Given the description of an element on the screen output the (x, y) to click on. 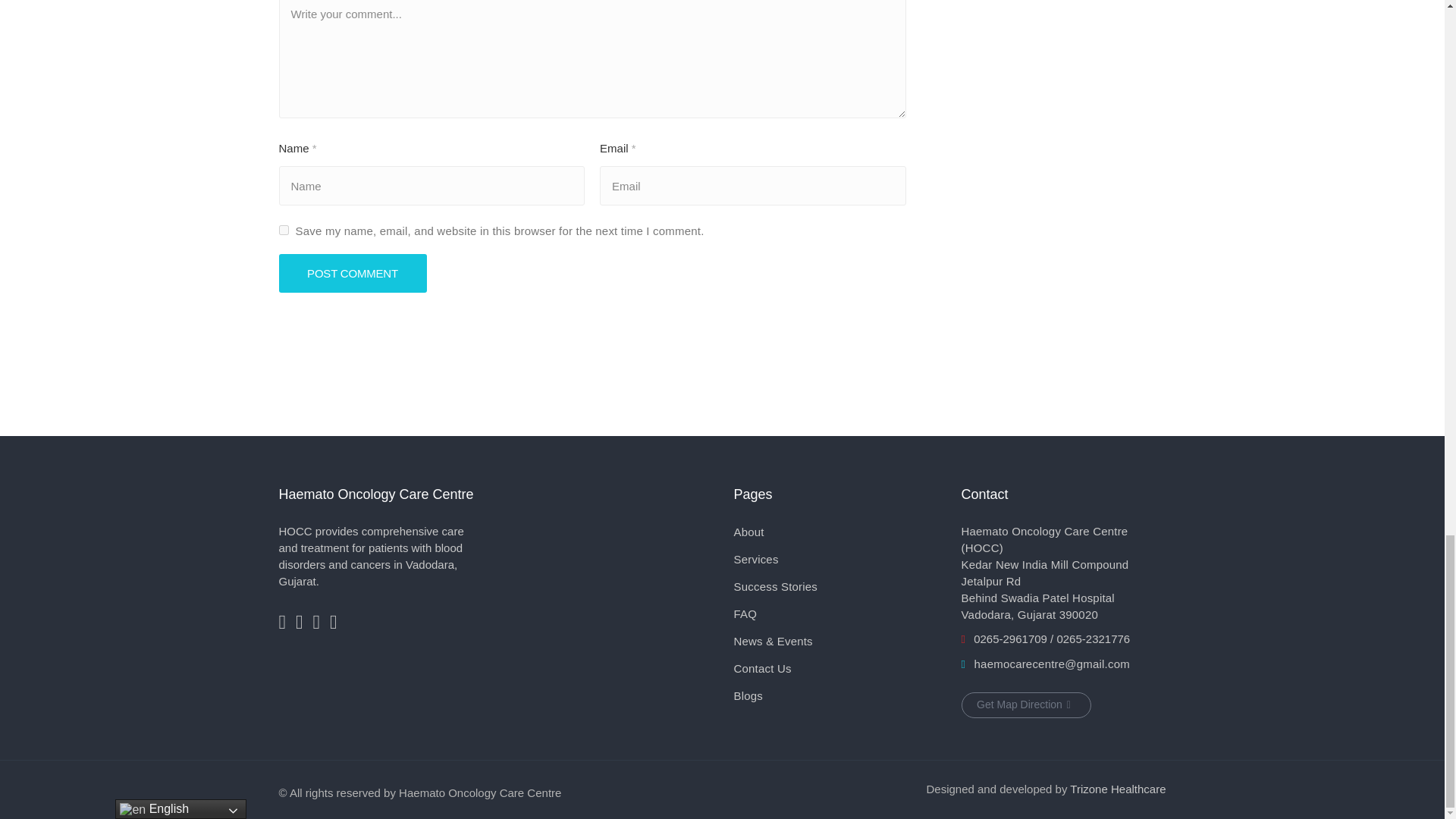
Post Comment (352, 272)
yes (283, 230)
